Given the description of an element on the screen output the (x, y) to click on. 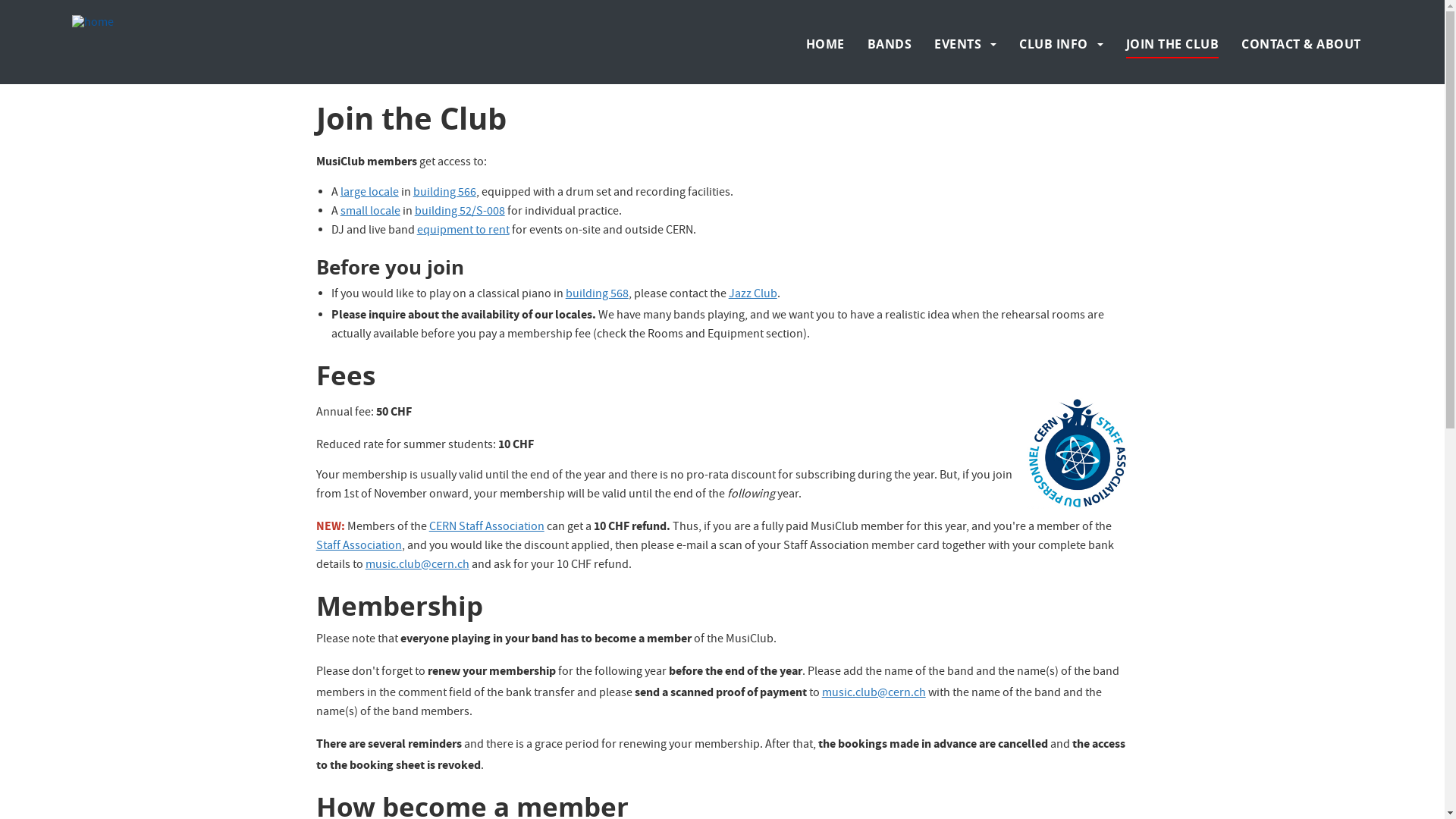
Staff Association Element type: text (358, 546)
CERN Accelerating science Element type: text (142, 14)
equipment to rent Element type: text (463, 231)
CONTACT & ABOUT Element type: text (1301, 43)
CERN Staff Association Element type: text (486, 527)
large locale Element type: text (369, 193)
Skip to main content Element type: text (0, 0)
music.club@cern.ch Element type: text (417, 565)
Home Element type: hover (230, 23)
small locale Element type: text (370, 212)
music.club@cern.ch Element type: text (873, 693)
building 566 Element type: text (444, 193)
Sign in Element type: text (1301, 14)
JOIN THE CLUB Element type: text (1172, 43)
Directory Element type: text (1351, 14)
BANDS Element type: text (889, 43)
HOME Element type: text (825, 43)
Jazz Club Element type: text (752, 294)
building 568 Element type: text (596, 294)
building 52/S-008 Element type: text (459, 212)
